Given the description of an element on the screen output the (x, y) to click on. 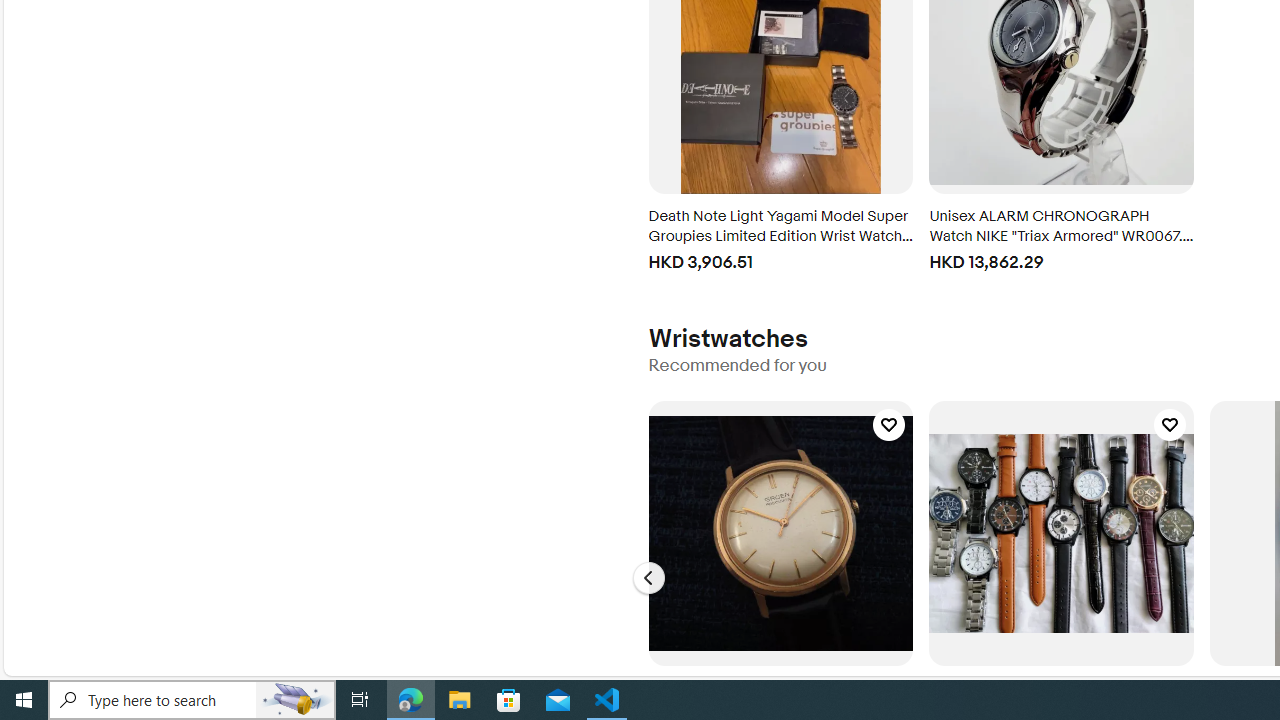
Go to the previous slide, Wristwatches - Carousel (648, 578)
Wristwatches (727, 338)
